Given the description of an element on the screen output the (x, y) to click on. 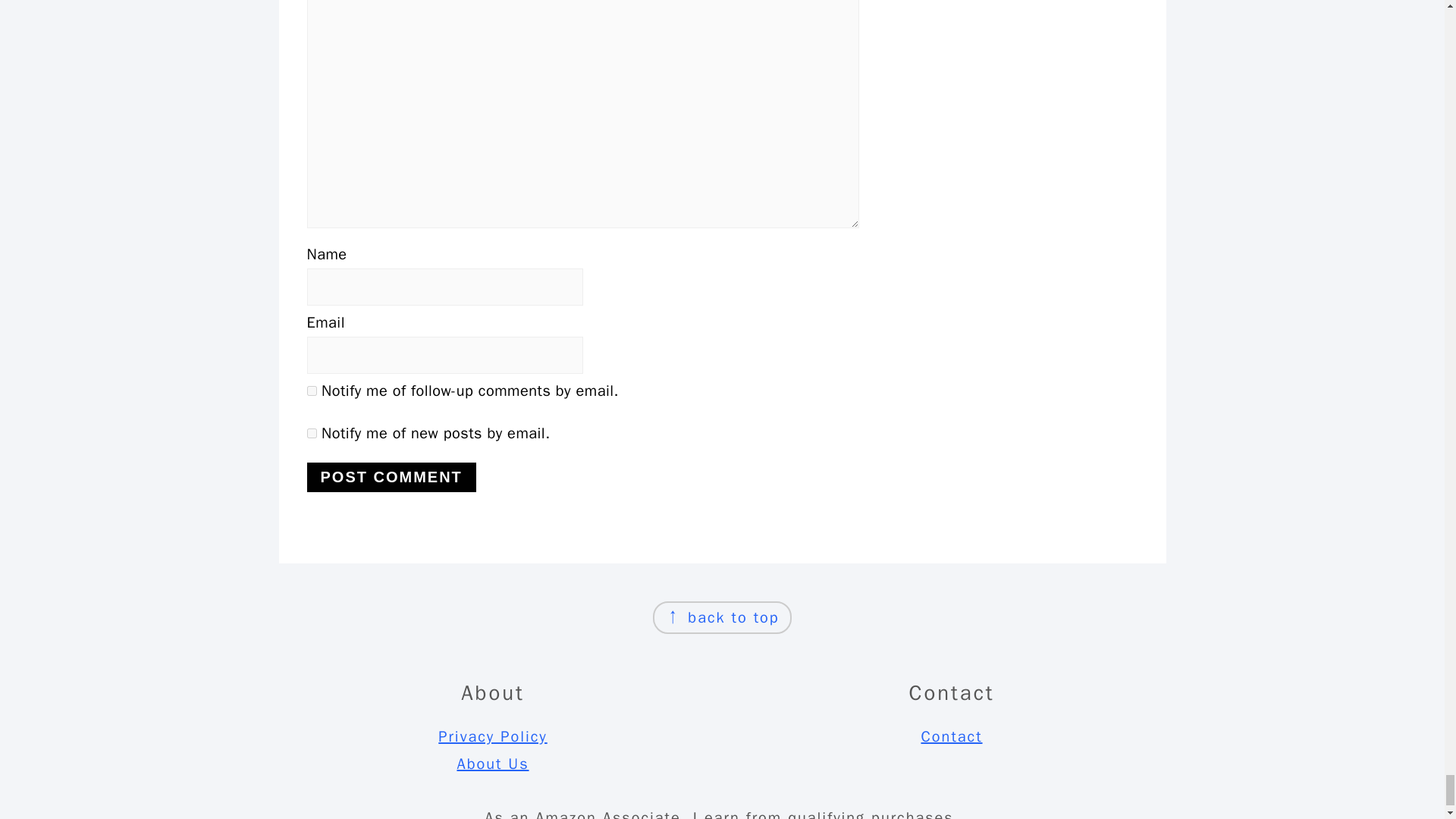
subscribe (310, 390)
Post Comment (390, 477)
subscribe (310, 433)
